Given the description of an element on the screen output the (x, y) to click on. 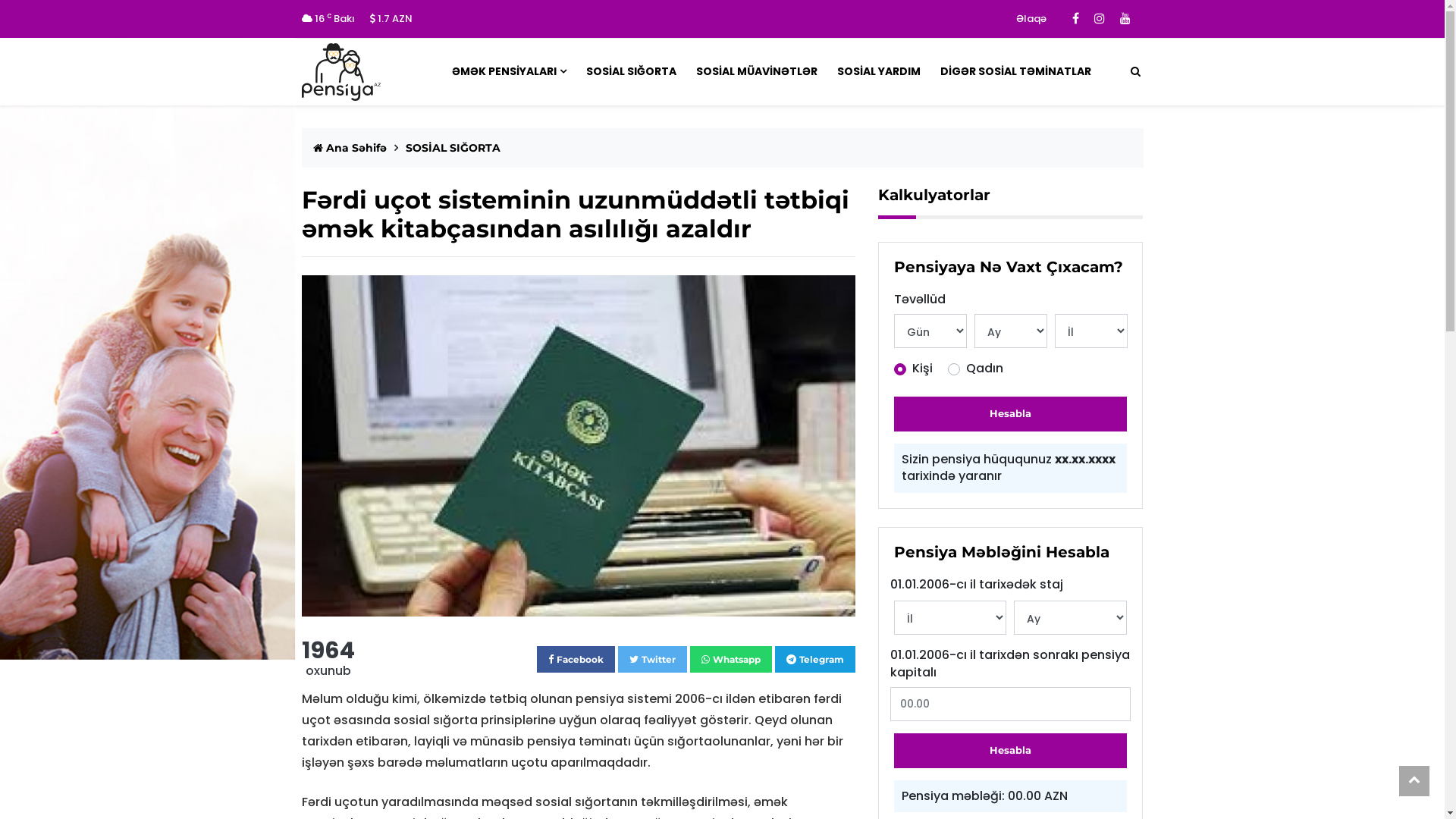
Facebook Element type: text (575, 659)
Hesabla Element type: text (1009, 413)
Twitter Element type: text (651, 659)
Telegram Element type: text (815, 659)
Hesabla Element type: text (1009, 750)
Whatsapp Element type: text (730, 659)
